Given the description of an element on the screen output the (x, y) to click on. 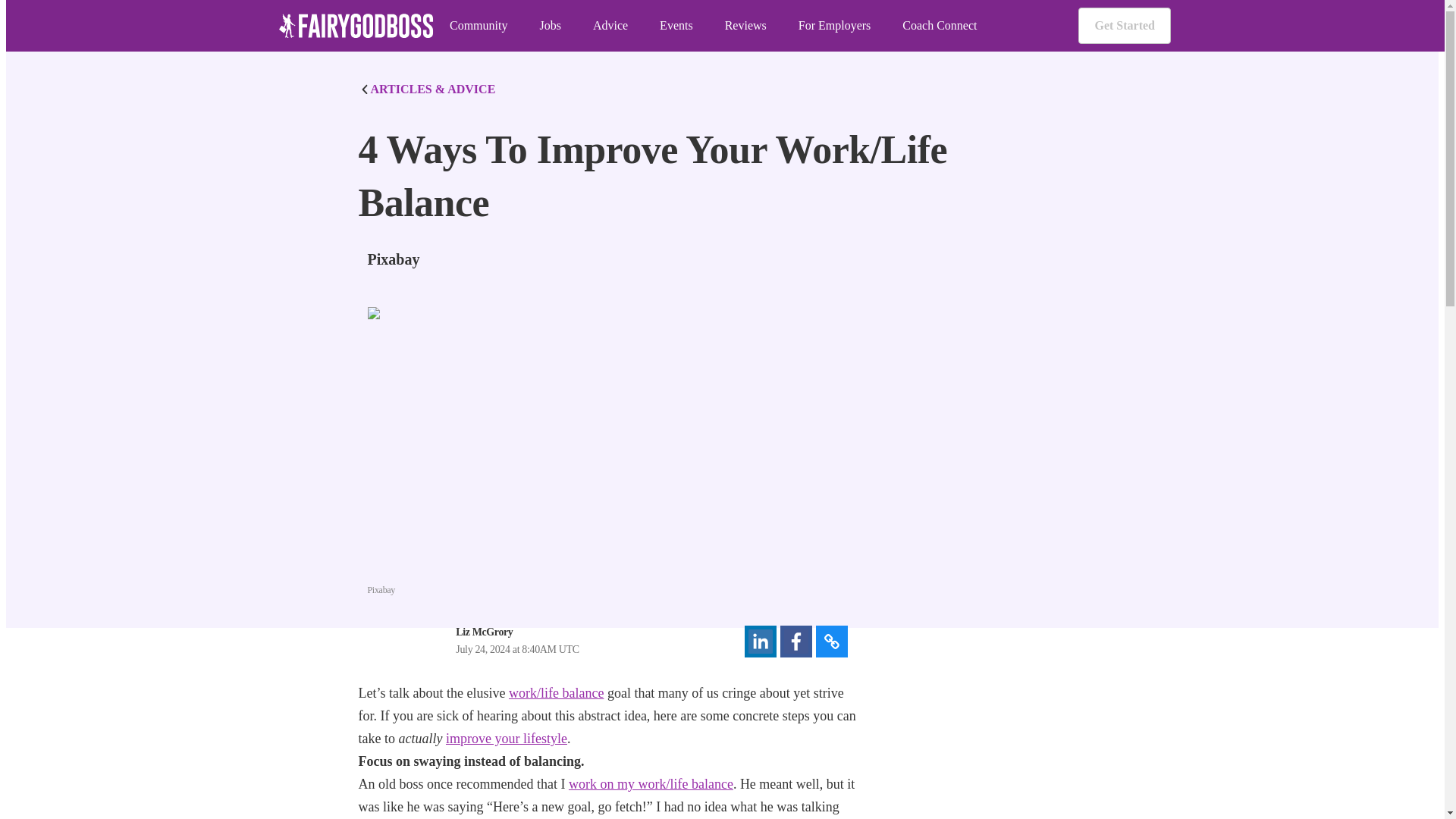
Reviews (746, 25)
For Employers (833, 25)
Community (477, 25)
Coach Connect (939, 25)
Jobs (549, 25)
Advice (609, 25)
Community (477, 25)
Get Started (1124, 25)
Reviews (746, 25)
Events (676, 25)
Events (676, 25)
improve your lifestyle (506, 738)
Jobs (549, 25)
Coach Connect (939, 25)
For Employers (833, 25)
